Given the description of an element on the screen output the (x, y) to click on. 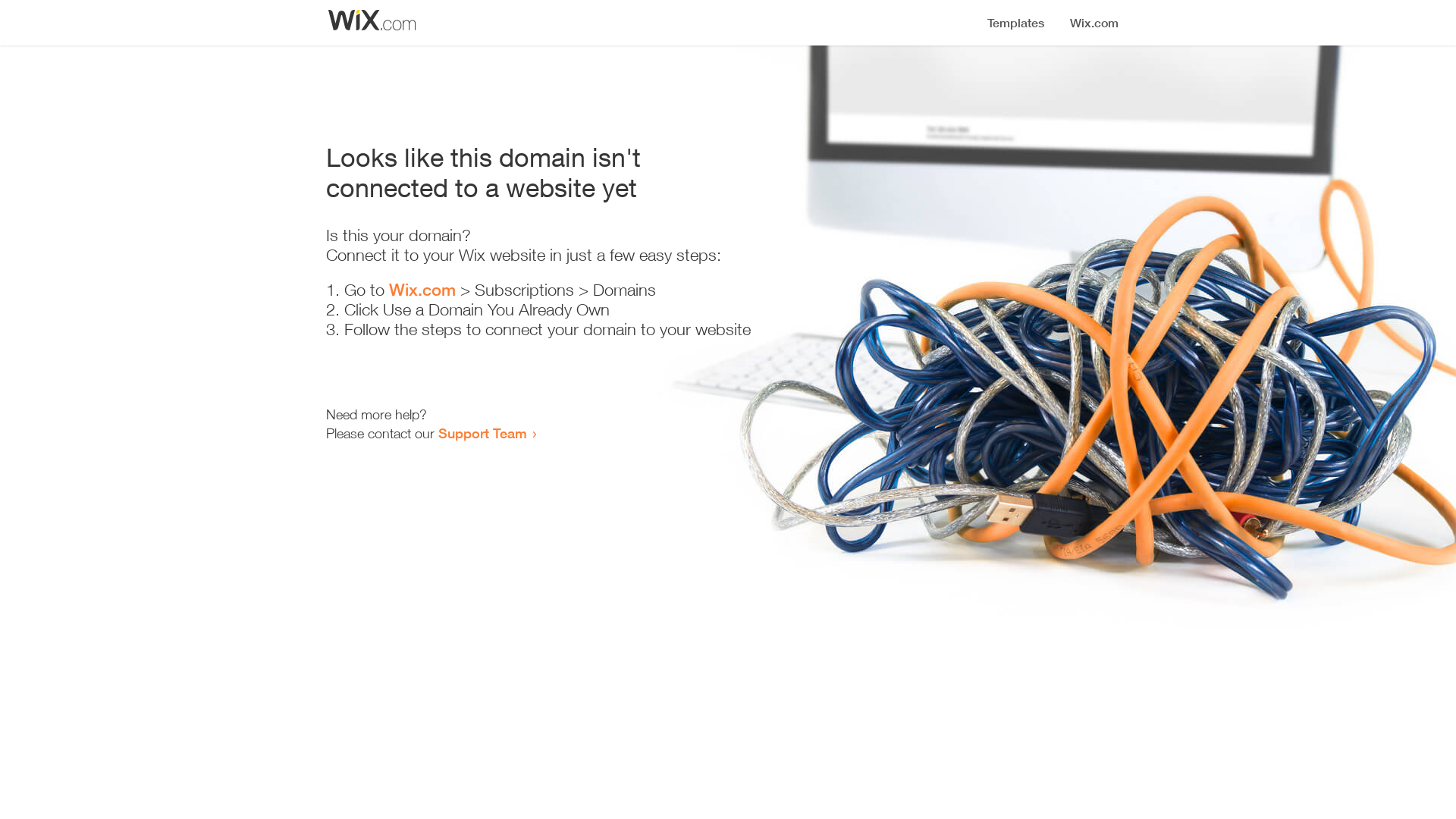
Wix.com Element type: text (422, 289)
Support Team Element type: text (482, 432)
